Given the description of an element on the screen output the (x, y) to click on. 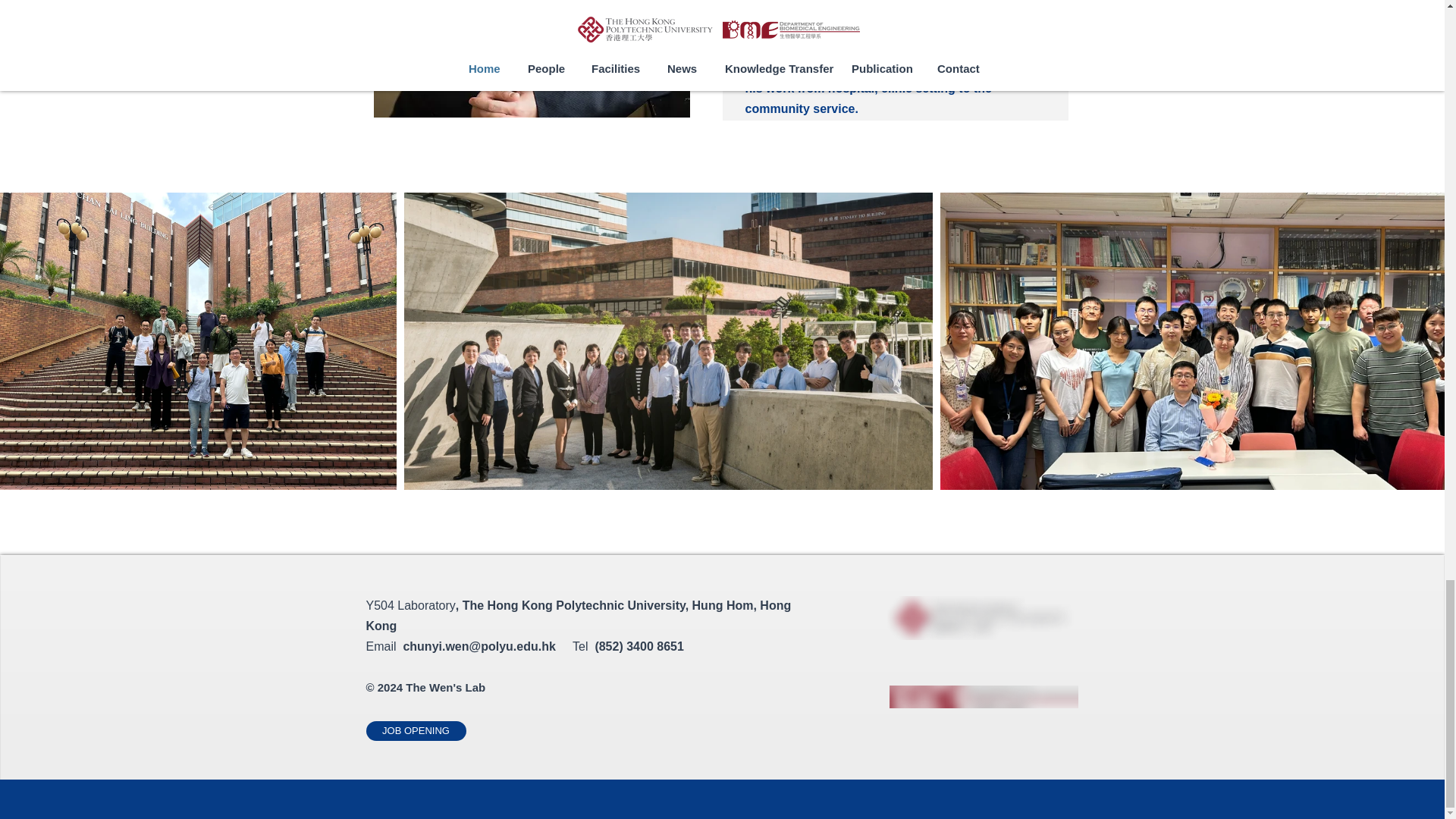
JOB OPENING (415, 731)
